Given the description of an element on the screen output the (x, y) to click on. 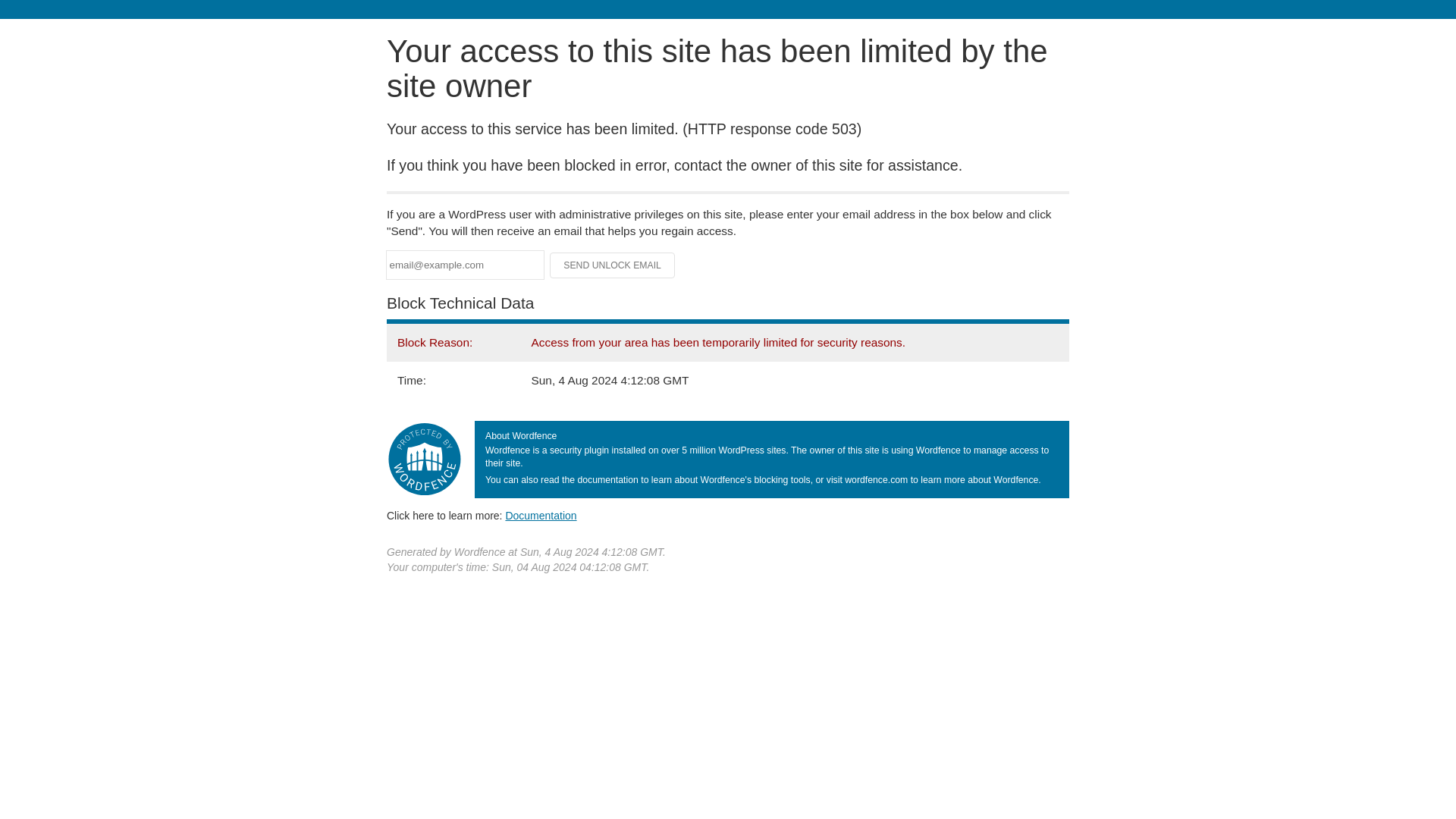
Send Unlock Email (612, 265)
Send Unlock Email (612, 265)
Documentation (540, 515)
